Given the description of an element on the screen output the (x, y) to click on. 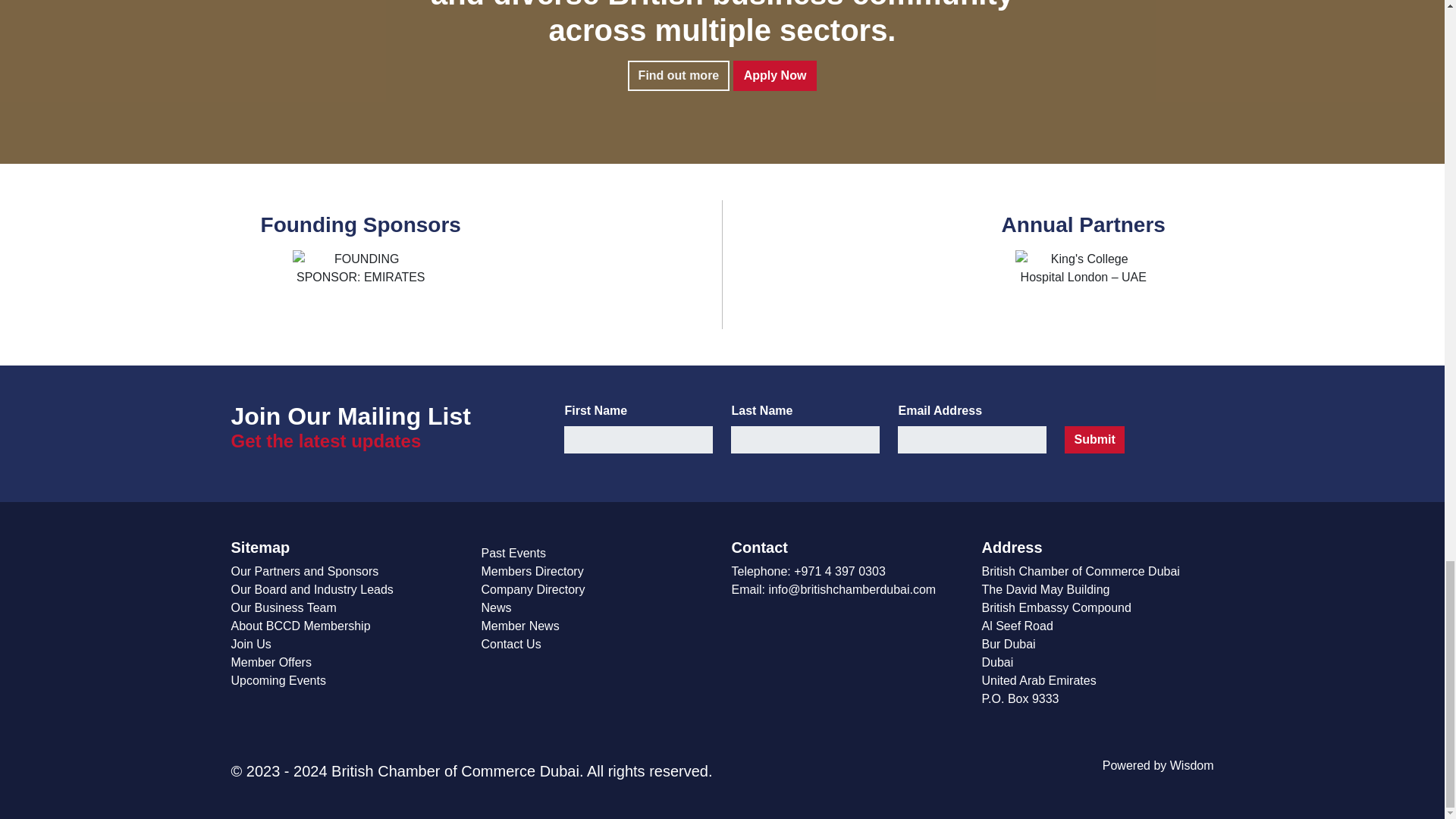
About BCCD Membership (299, 625)
Upcoming Events (277, 680)
Member Offers (270, 662)
Our Partners and Sponsors (304, 571)
Join Us (250, 644)
Find out more (678, 75)
Our Board and Industry Leads (311, 589)
Our Business Team (283, 607)
Apply Now (774, 75)
